Given the description of an element on the screen output the (x, y) to click on. 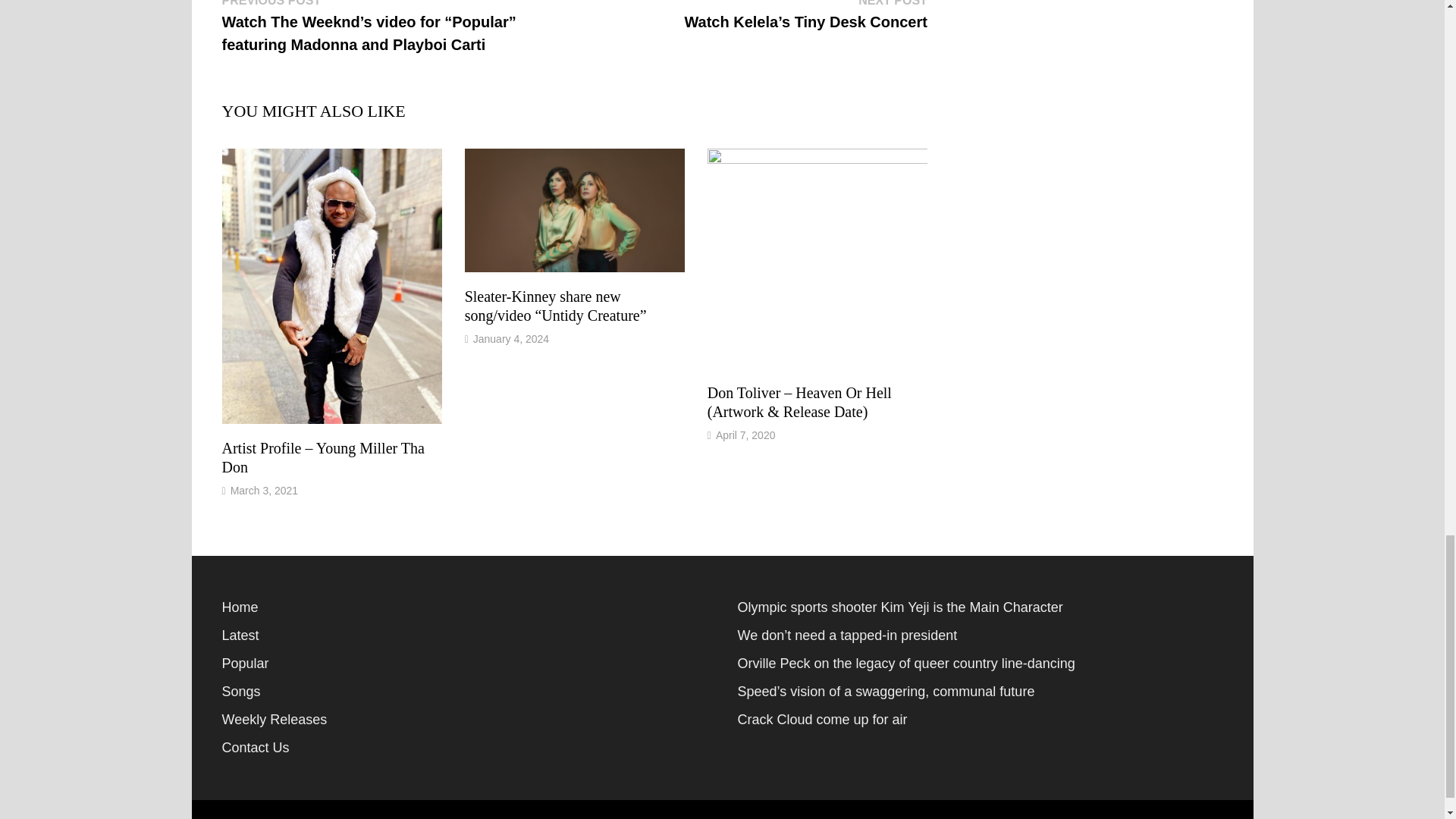
The three O Five (364, 818)
April 7, 2020 (746, 435)
March 3, 2021 (264, 490)
January 4, 2024 (510, 338)
